Given the description of an element on the screen output the (x, y) to click on. 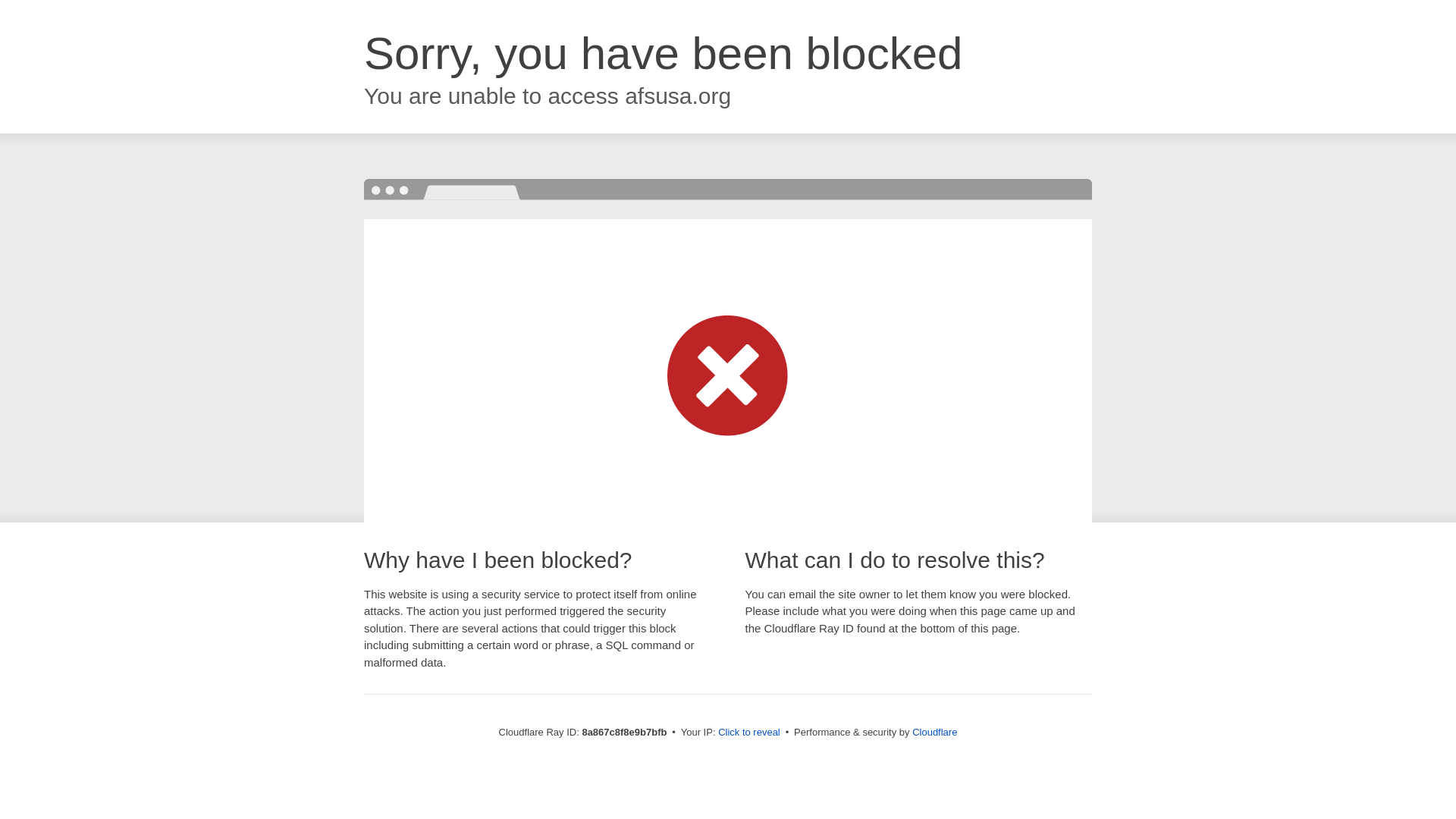
Cloudflare (934, 731)
Click to reveal (748, 732)
